Given the description of an element on the screen output the (x, y) to click on. 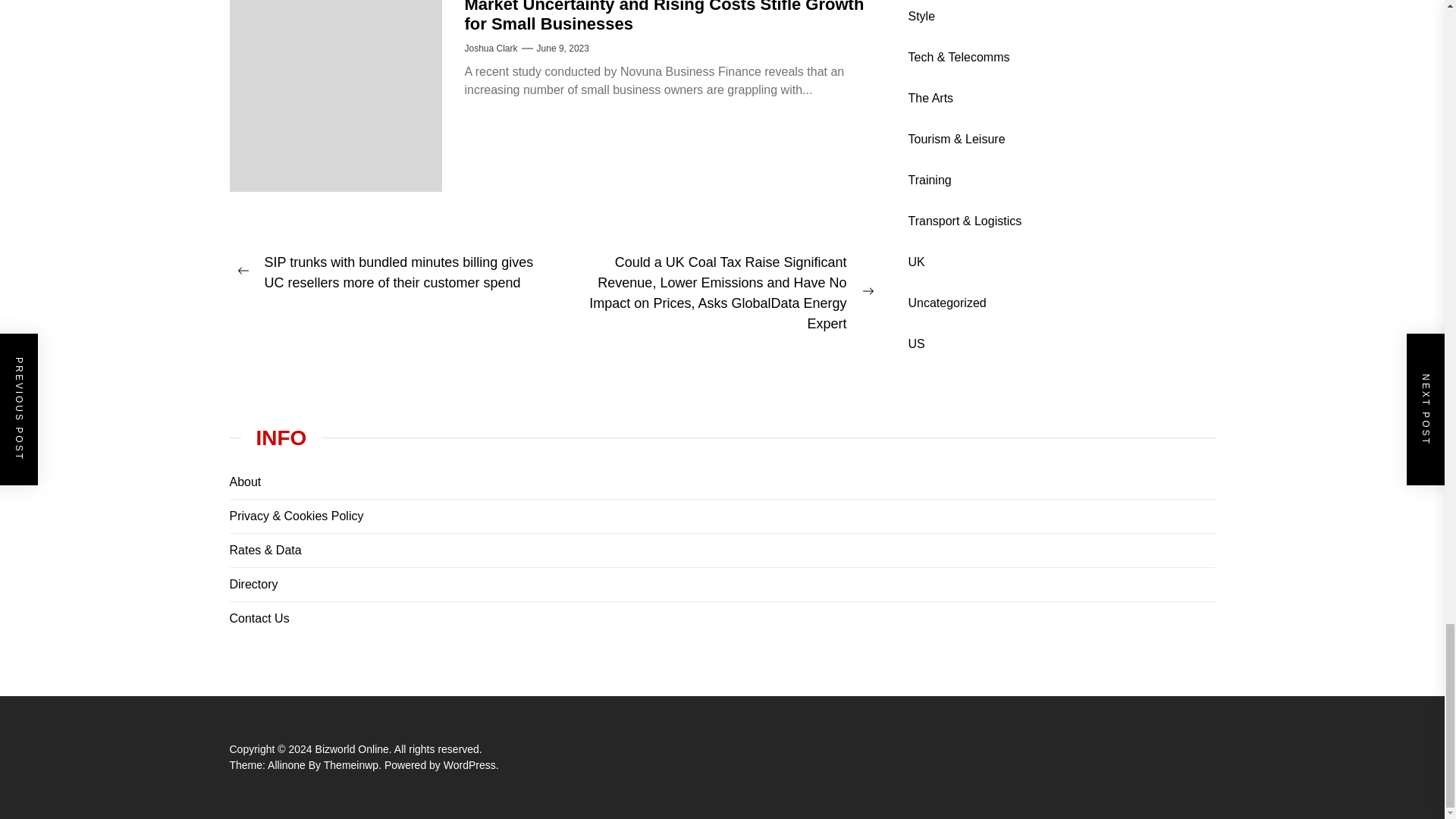
Themeinwp (353, 765)
Bizworld Online (354, 748)
WordPress (471, 765)
